Given the description of an element on the screen output the (x, y) to click on. 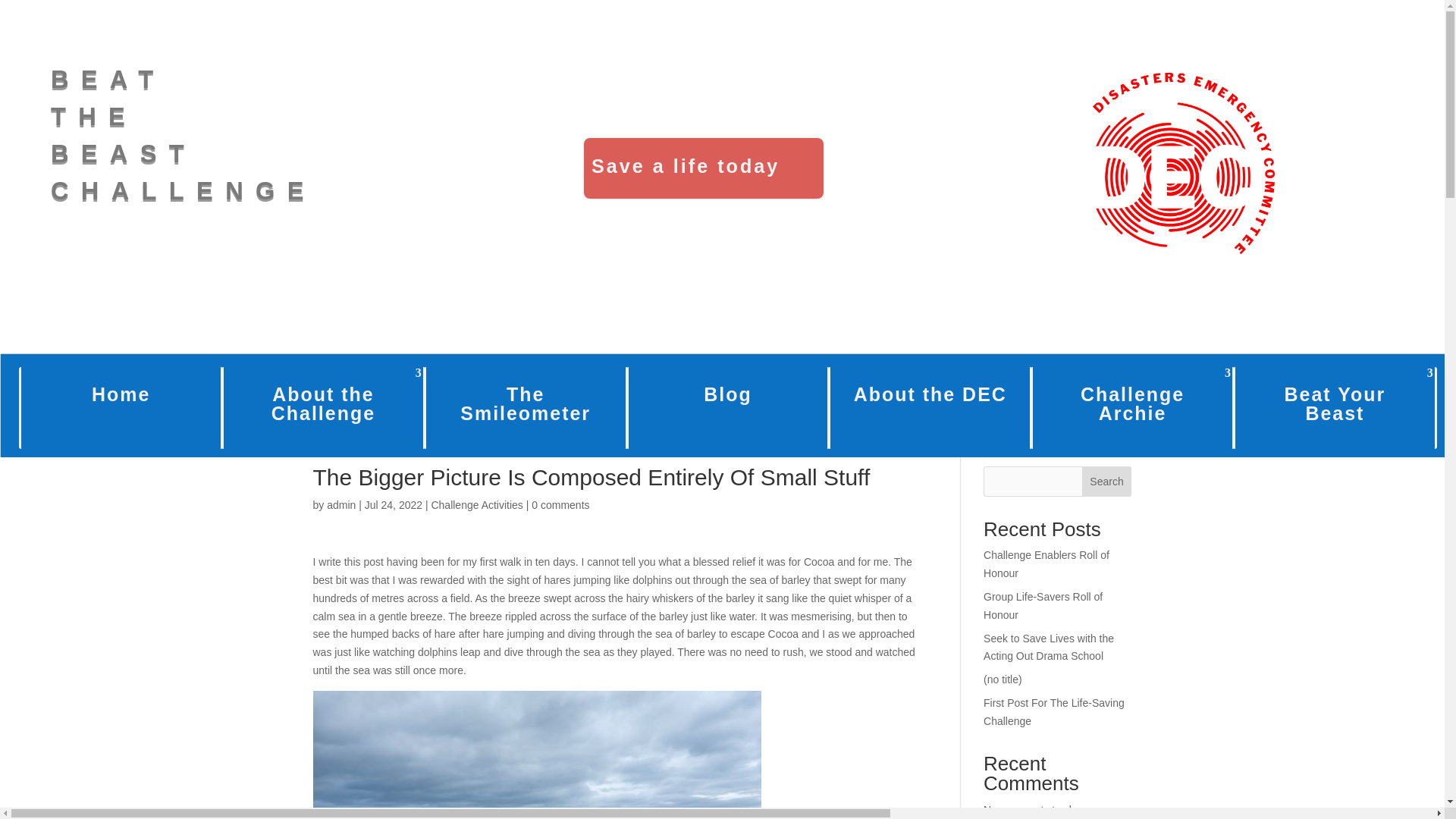
Home (120, 407)
Beat Your Beast (1335, 407)
Challenge Archie (1132, 407)
DEC-Logo-small--XJcDMZ (182, 134)
About the DEC (1184, 162)
About the Challenge (930, 407)
Blog (323, 407)
The Smileometer (727, 407)
Posts by admin (525, 407)
